Given the description of an element on the screen output the (x, y) to click on. 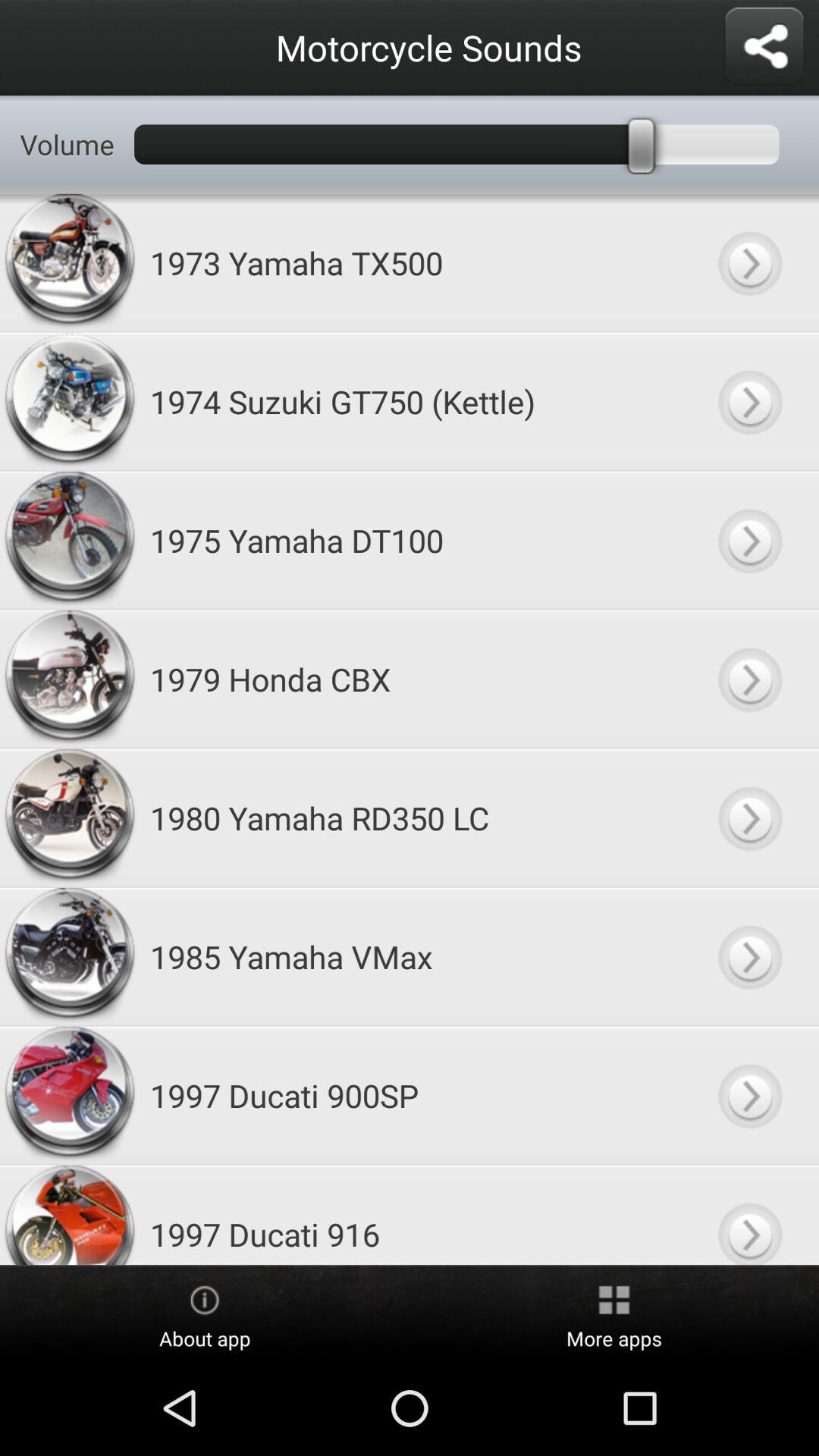
toggle next 1974 suzuki (749, 401)
